Given the description of an element on the screen output the (x, y) to click on. 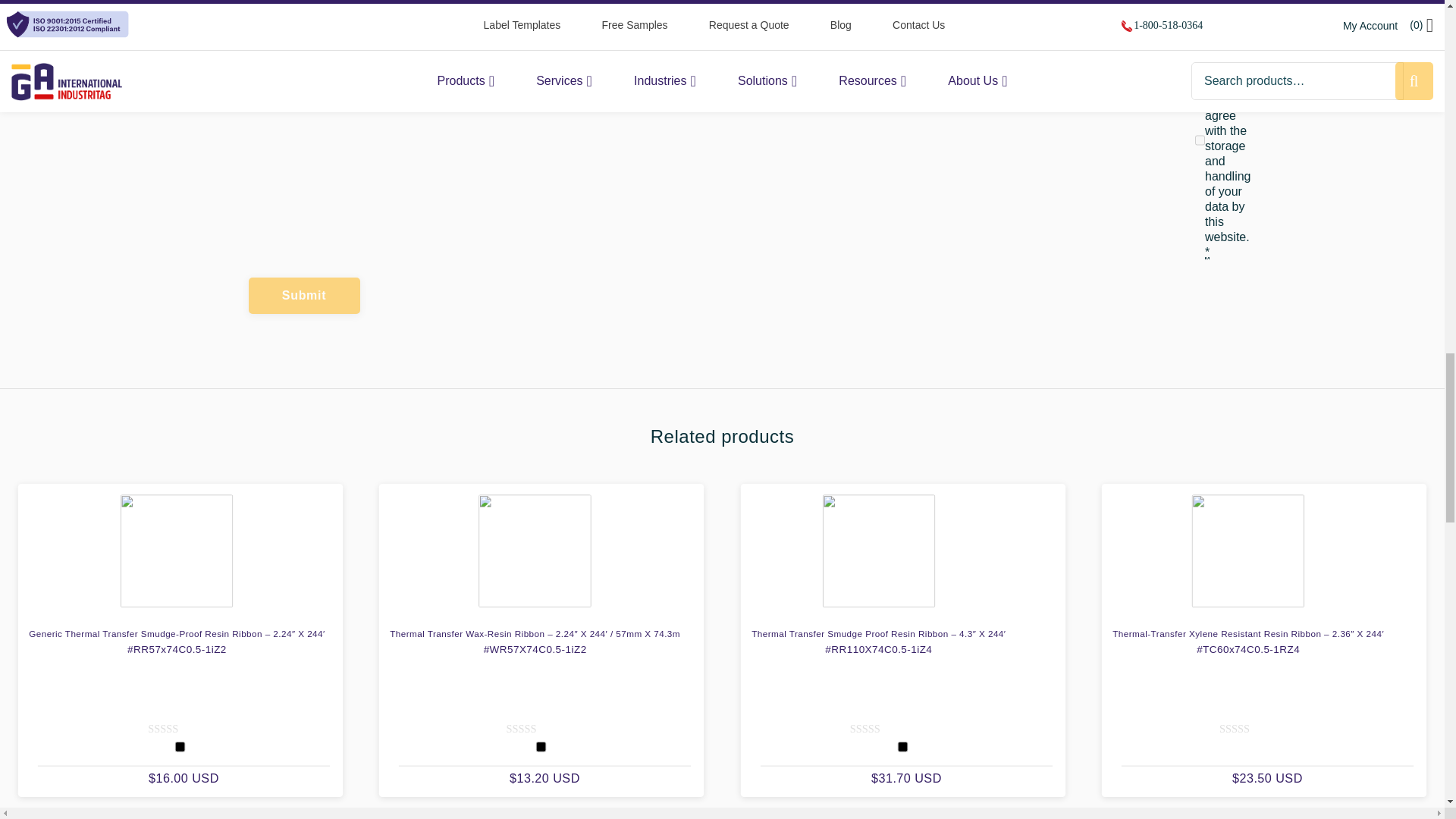
Not yet rated (881, 729)
Black (180, 747)
Not yet rated (1252, 729)
Not yet rated (538, 729)
Black (902, 747)
Black (541, 747)
Submit (303, 295)
Not yet rated (180, 729)
